Given the description of an element on the screen output the (x, y) to click on. 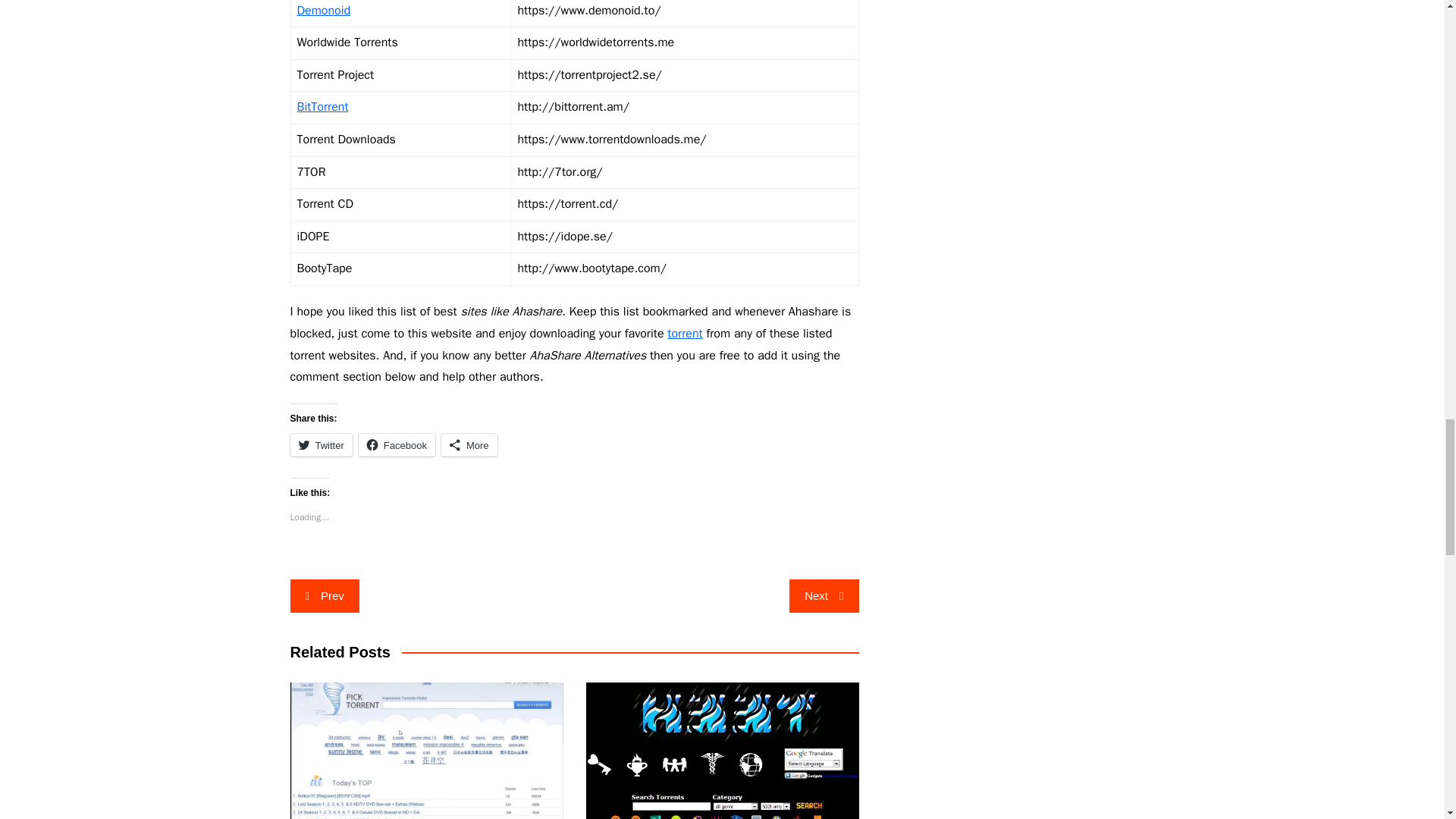
BitTorrent (323, 106)
Click to share on Twitter (320, 445)
Click to share on Facebook (396, 445)
Demonoid (323, 10)
torrent (683, 333)
